Given the description of an element on the screen output the (x, y) to click on. 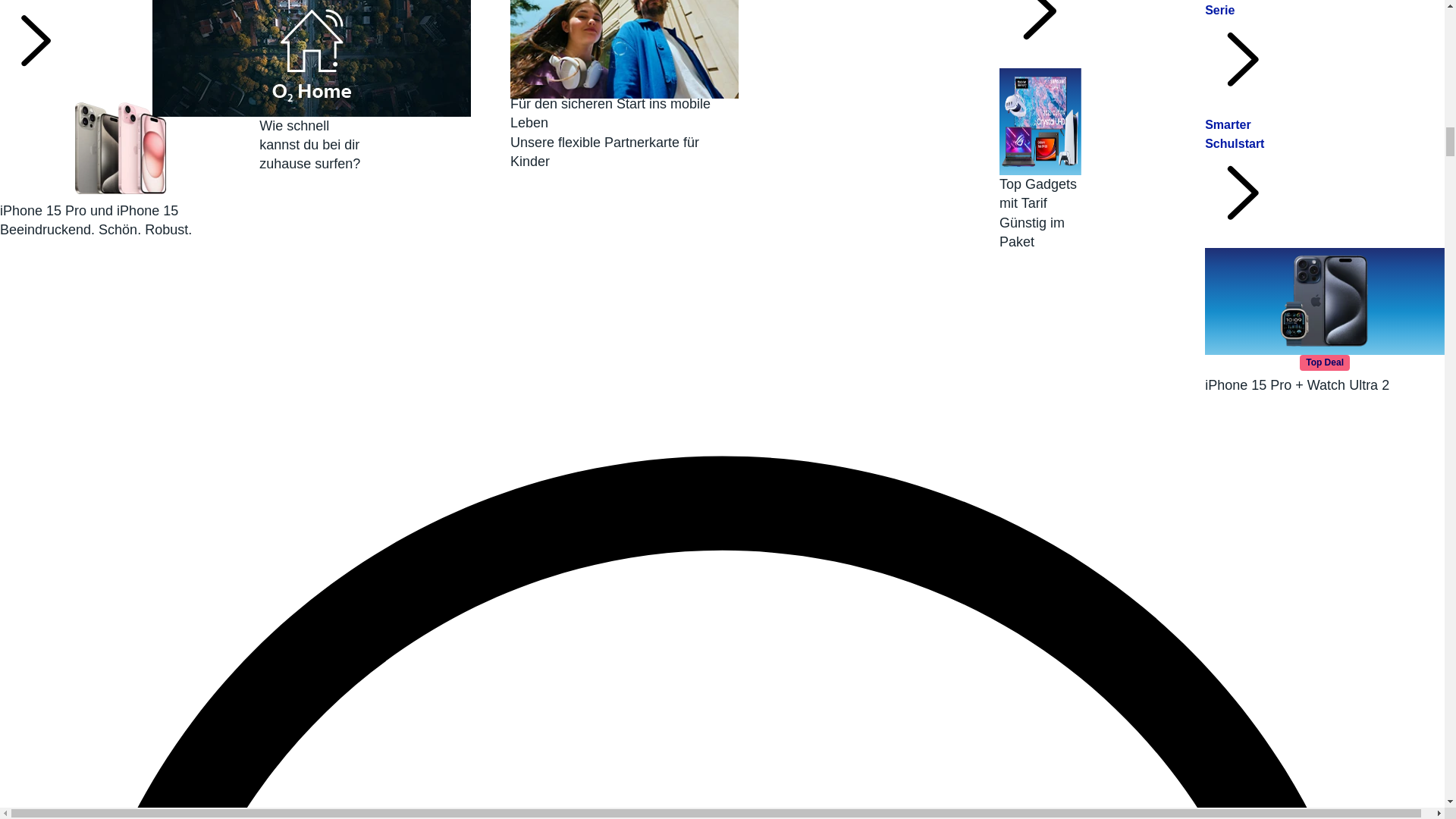
nk-mobilfunk-apple-iphone-15-serie-teaser (120, 167)
Sehr gutes Netz entdecken (37, 39)
Sehr gutes Netz entdecken (37, 39)
